Given the description of an element on the screen output the (x, y) to click on. 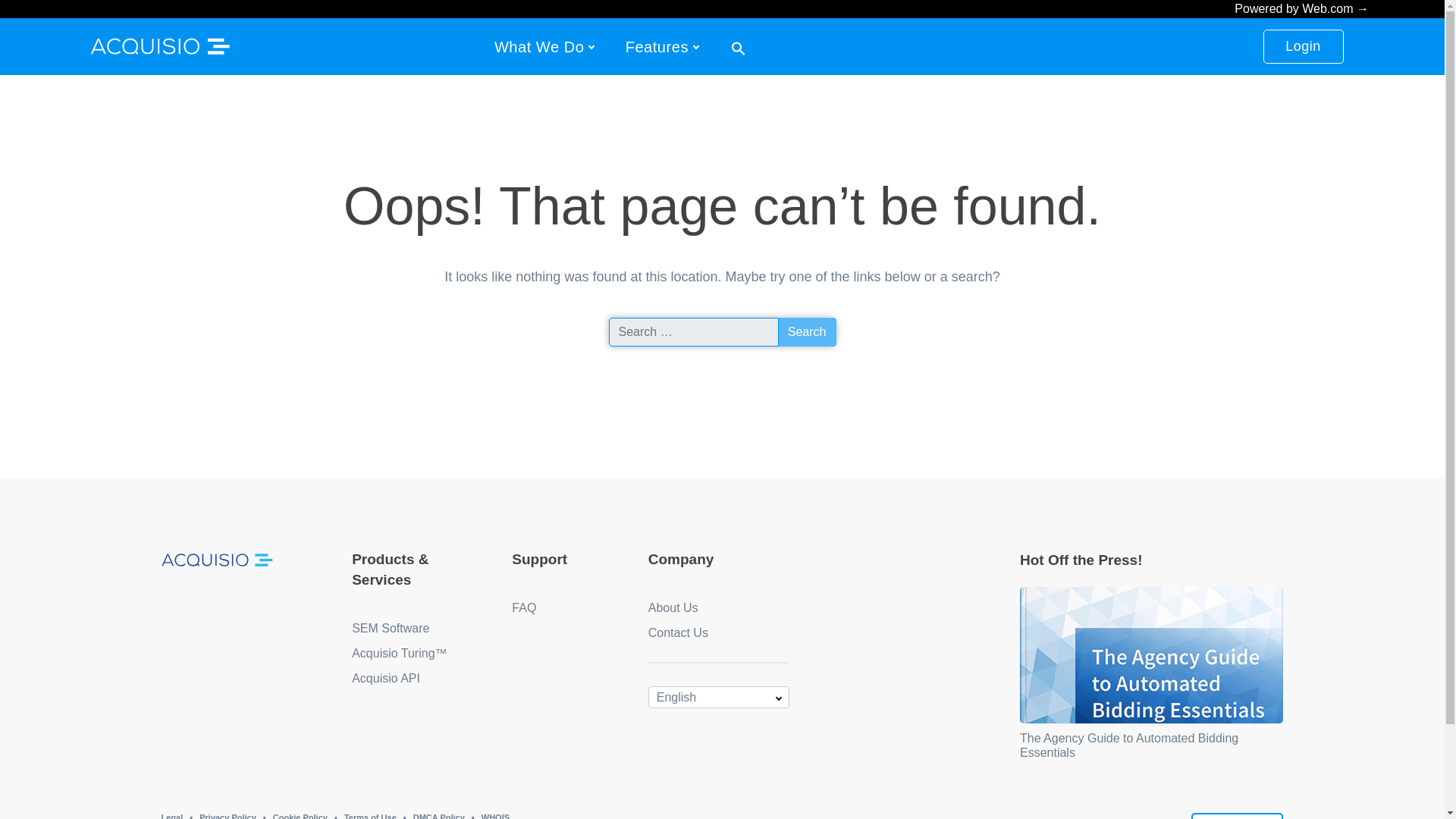
Features (657, 45)
Legal (171, 816)
Privacy Policy (227, 816)
Company (680, 559)
English (718, 697)
The Agency Guide to Automated Bidding Essentials (1129, 744)
Acquisio API (386, 677)
Contact Us (677, 632)
Search (806, 331)
DMCA Policy (438, 816)
